Given the description of an element on the screen output the (x, y) to click on. 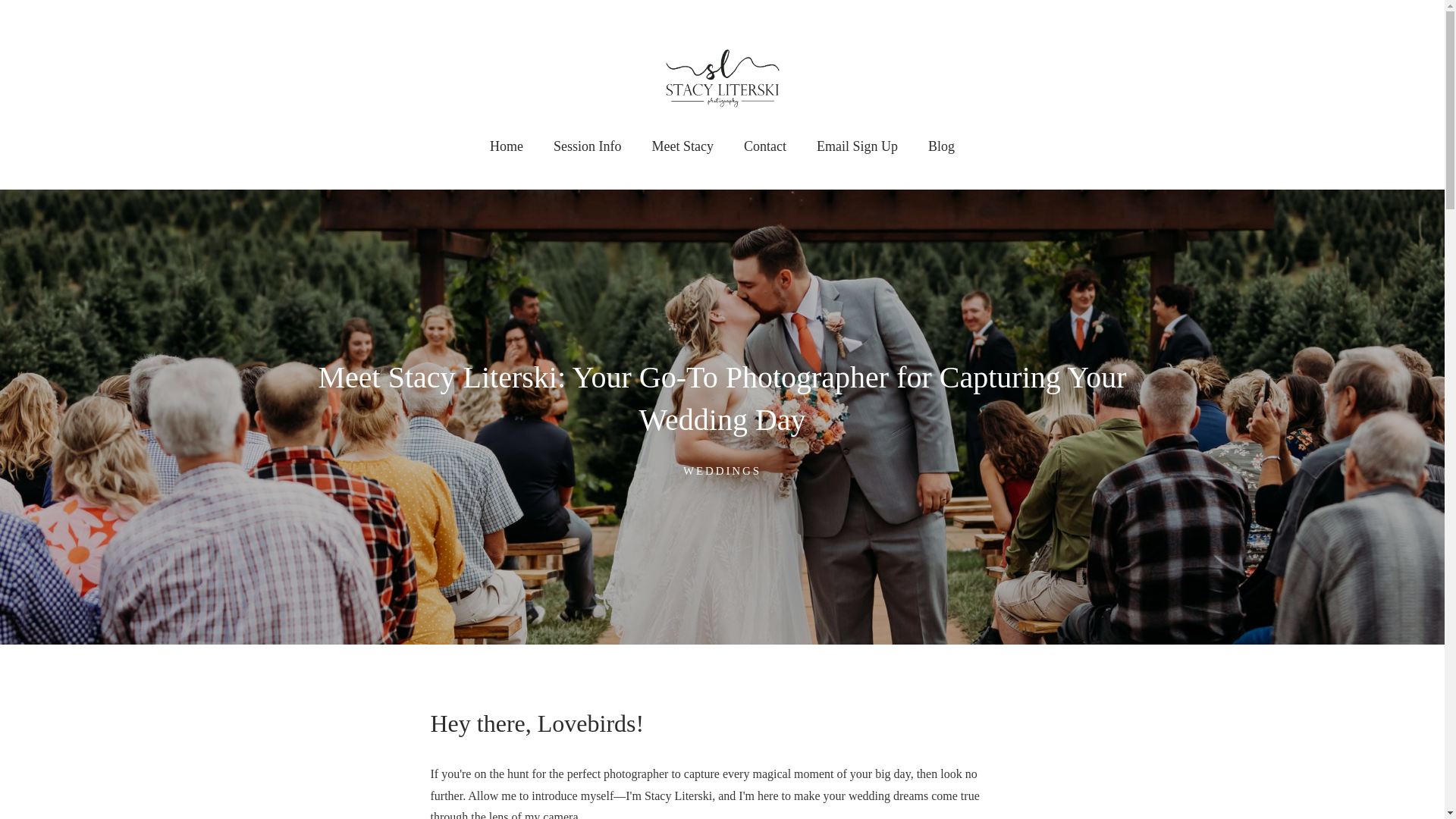
Meet Stacy (682, 146)
Session Info (587, 146)
Email Sign Up (857, 146)
Blog (941, 146)
Contact (764, 146)
Home (506, 146)
WEDDINGS (721, 470)
